Given the description of an element on the screen output the (x, y) to click on. 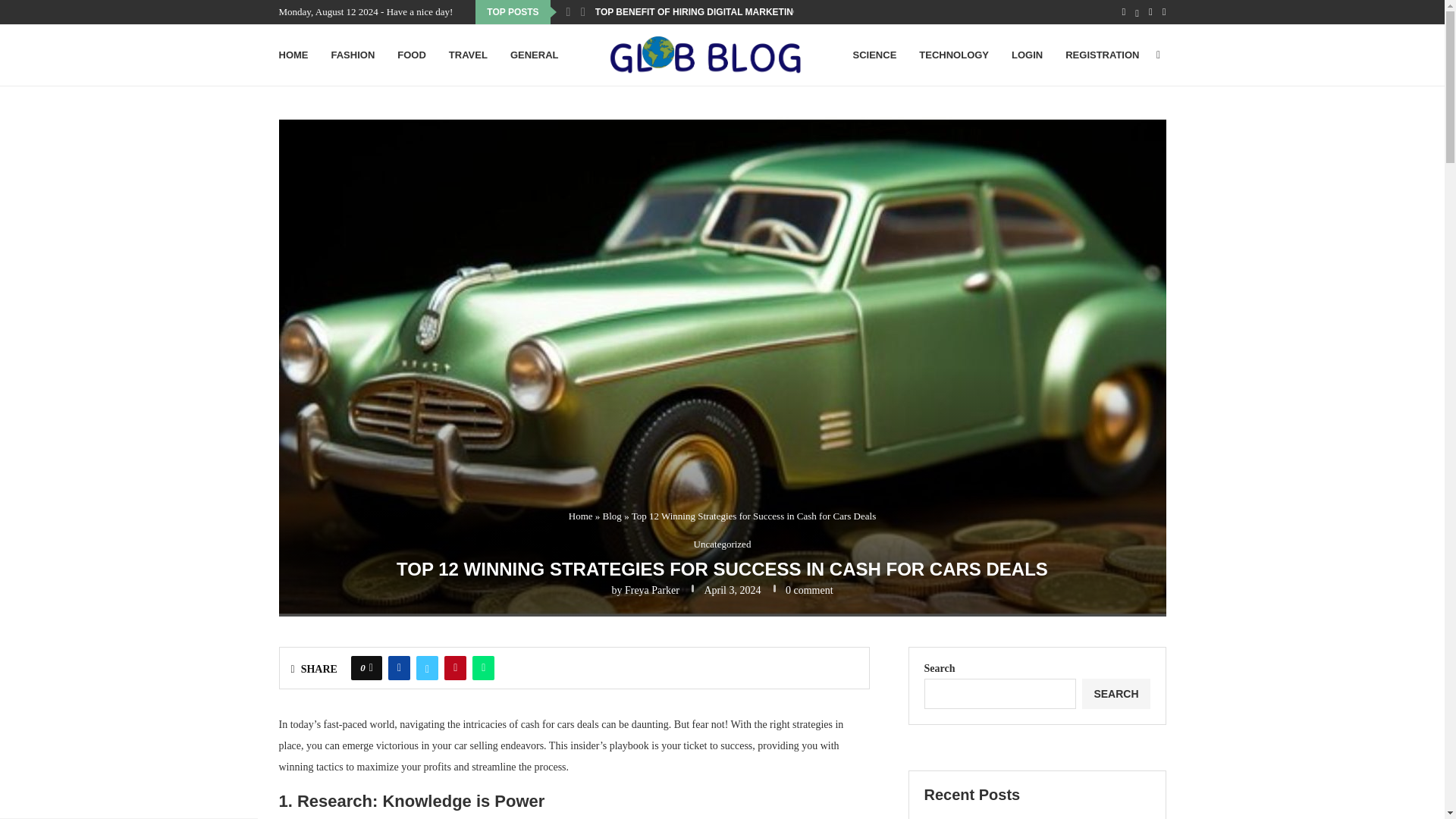
TECHNOLOGY (953, 55)
Uncategorized (722, 544)
REGISTRATION (1101, 55)
Blog (611, 515)
Home (580, 515)
TOP BENEFIT OF HIRING DIGITAL MARKETING AGENCY IN... (727, 12)
Freya Parker (651, 590)
